Given the description of an element on the screen output the (x, y) to click on. 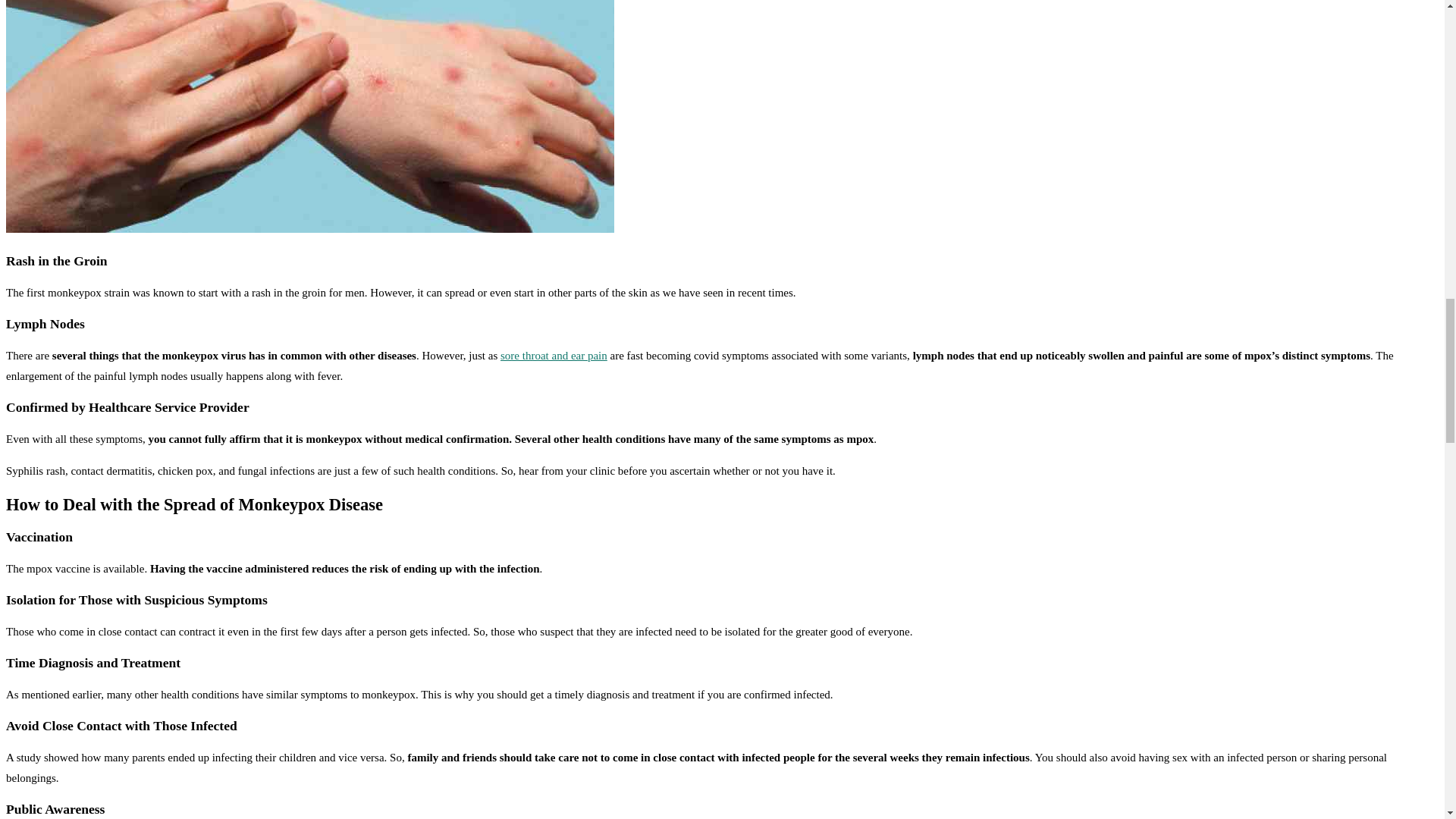
sore throat and ear pain (553, 355)
